Given the description of an element on the screen output the (x, y) to click on. 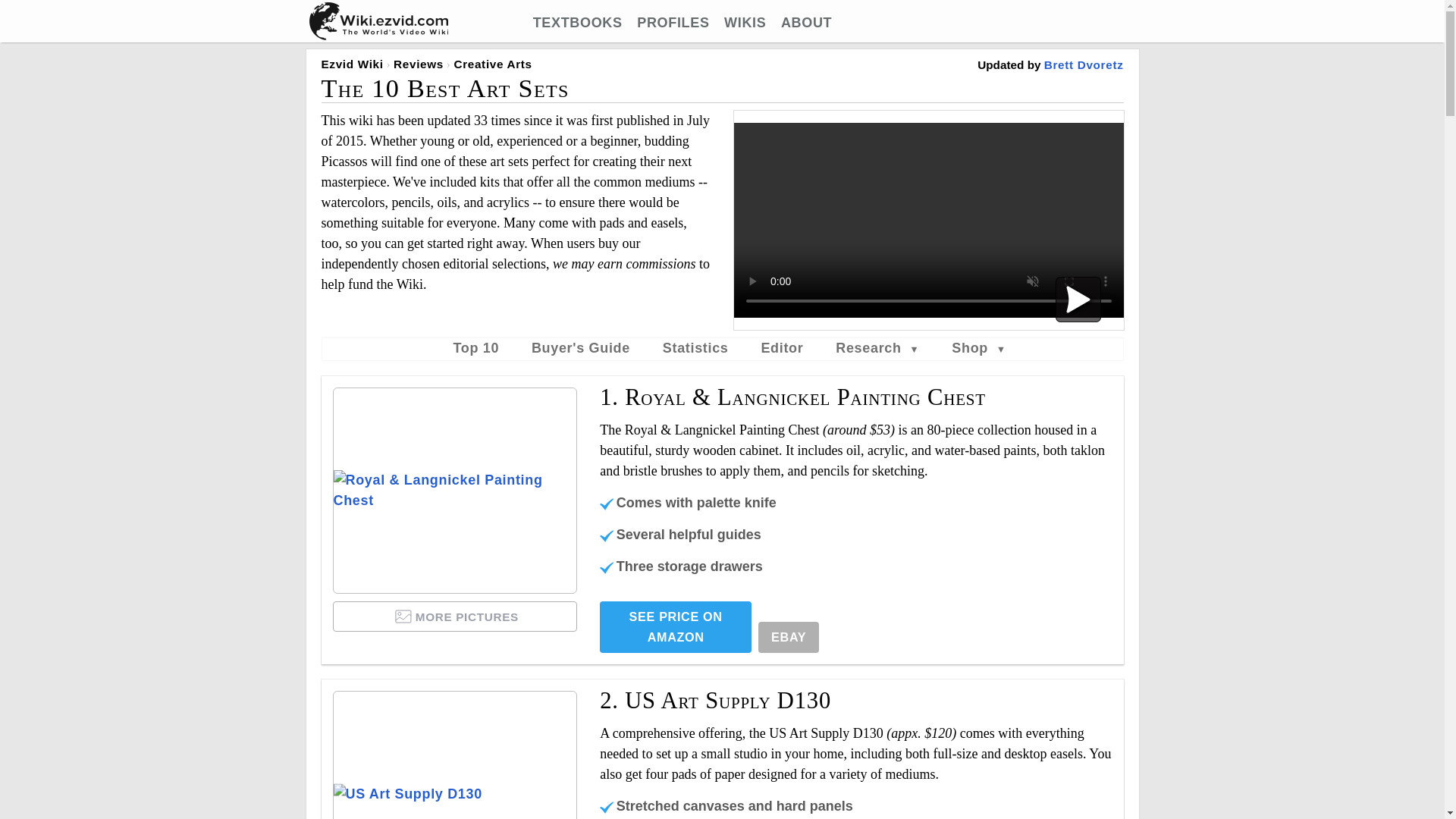
ABOUT (805, 22)
Creative Arts (491, 63)
Reviews (418, 63)
EBAY (788, 636)
Top 10 (475, 347)
SEE PRICE ON AMAZON (675, 626)
PROFILES (673, 22)
Ezvid Wiki (352, 63)
MORE PICTURES (454, 615)
WIKIS (744, 22)
Statistics (695, 347)
Editor (781, 347)
TEXTBOOKS (577, 22)
Brett Dvoretz (1083, 64)
Buyer's Guide (580, 347)
